Given the description of an element on the screen output the (x, y) to click on. 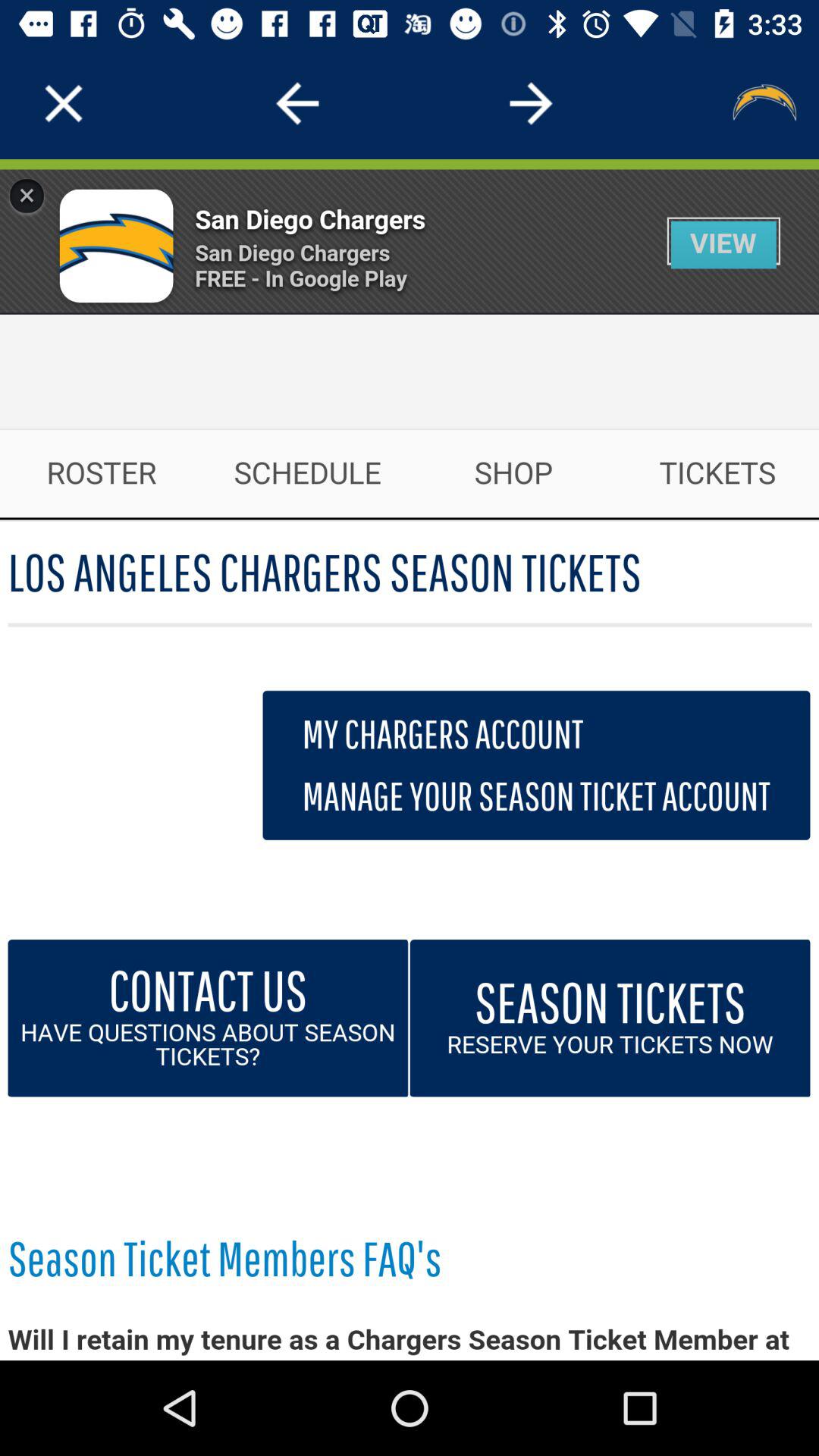
open icon at the top right corner (762, 103)
